Given the description of an element on the screen output the (x, y) to click on. 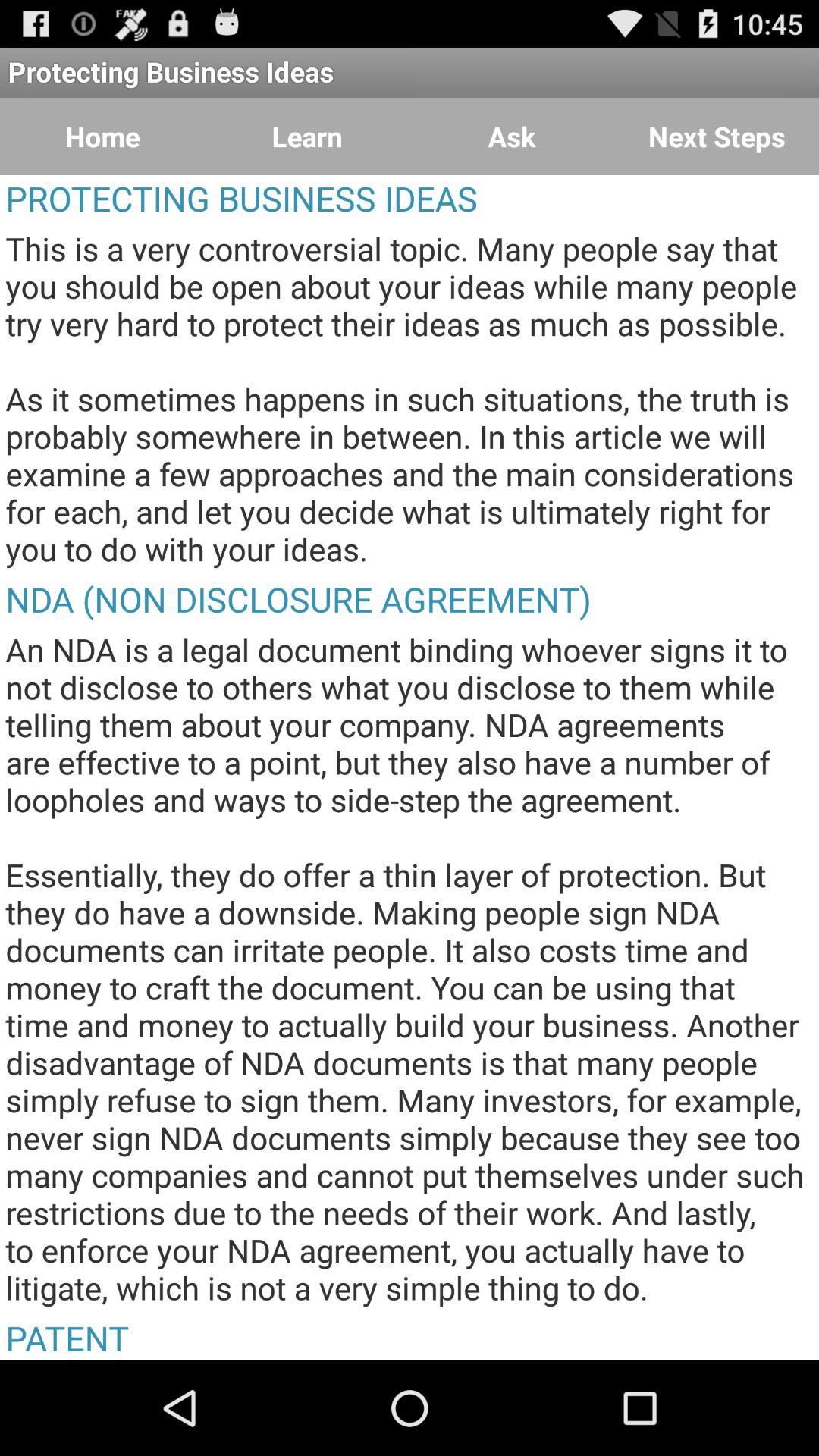
choose the item above protecting business ideas (511, 136)
